Given the description of an element on the screen output the (x, y) to click on. 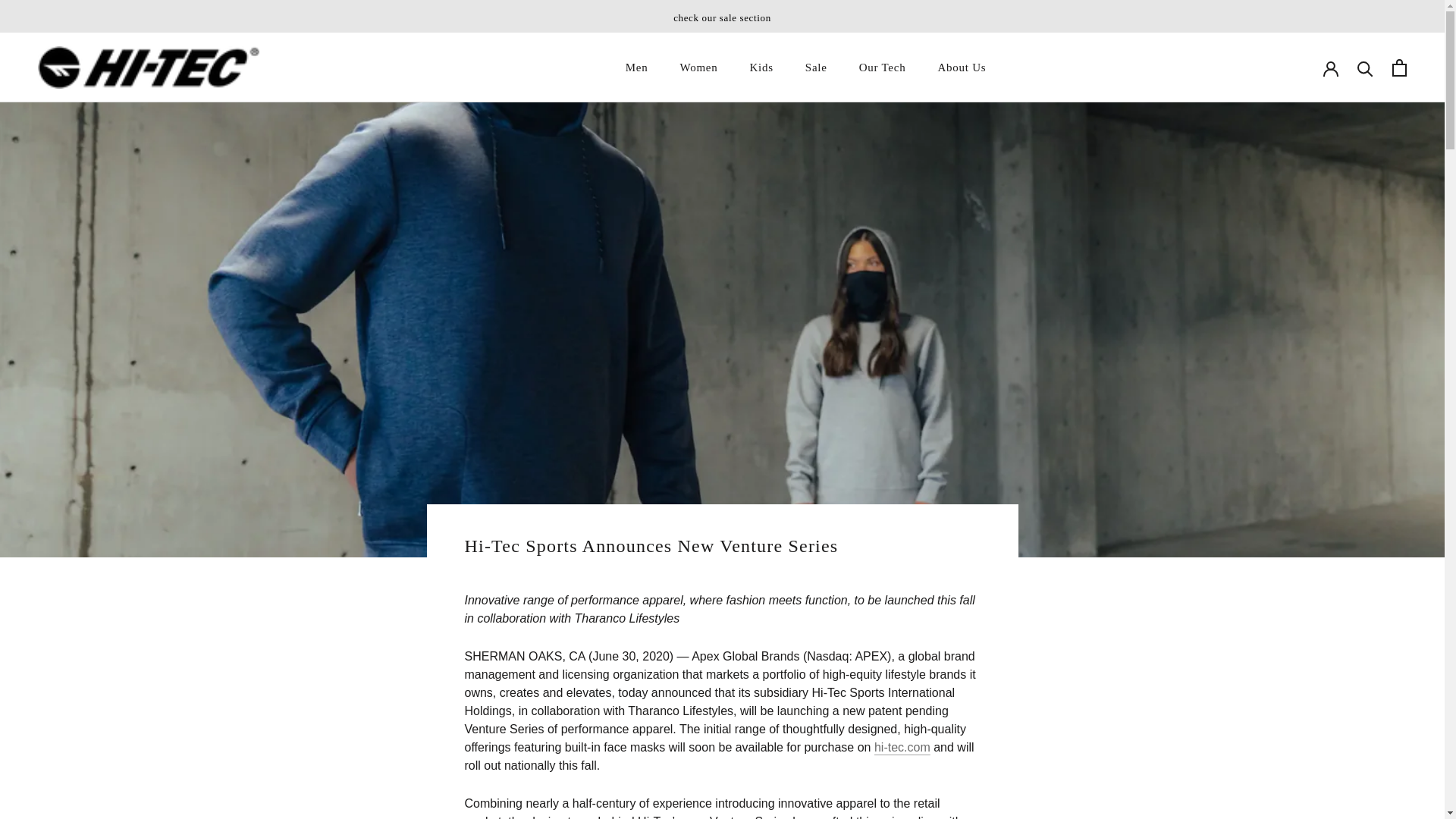
Men (761, 67)
Women (636, 67)
hi-tec.com (816, 67)
